Given the description of an element on the screen output the (x, y) to click on. 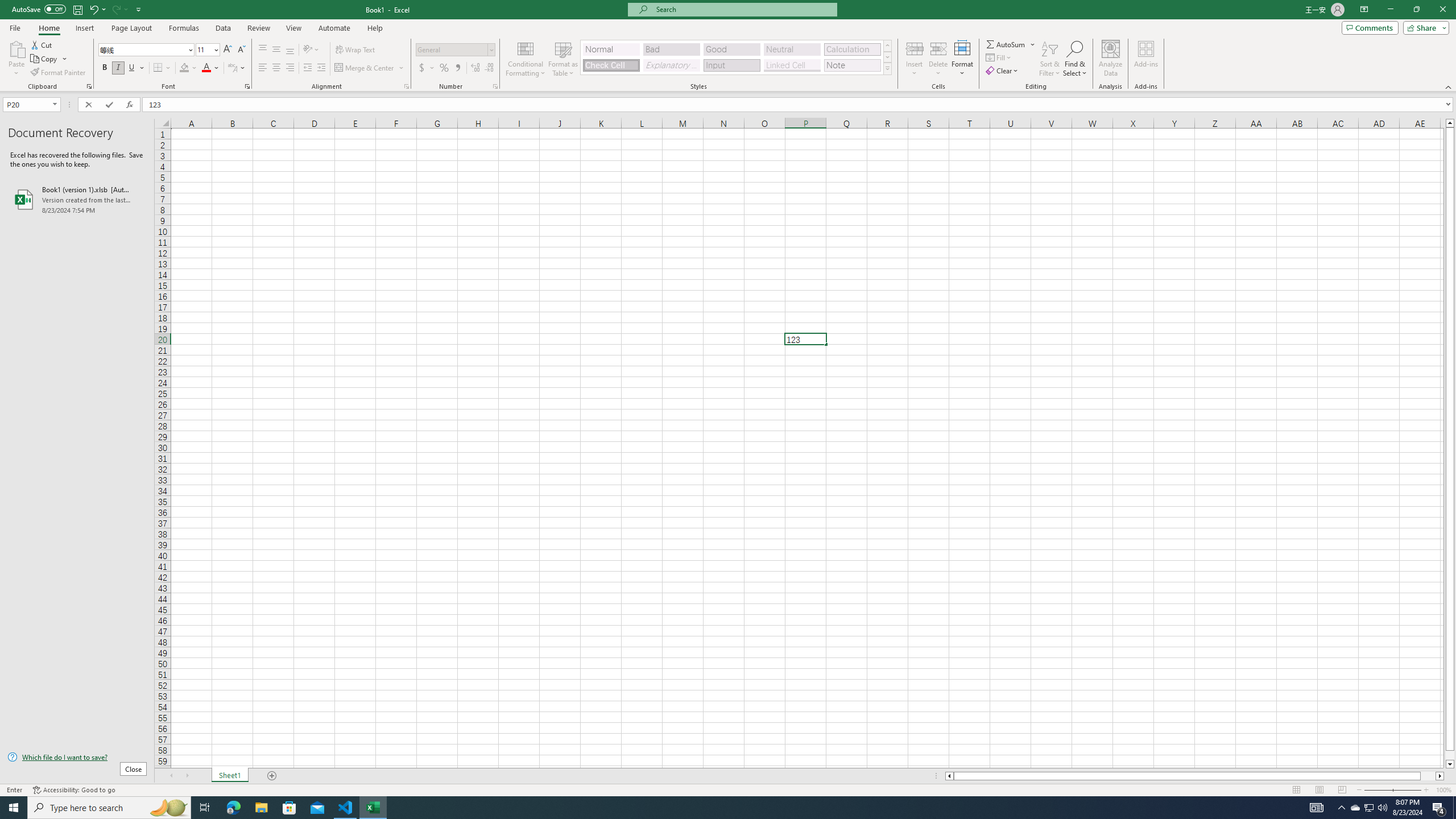
Data (223, 28)
View (293, 28)
Decrease Indent (307, 67)
Format (962, 58)
Input (731, 65)
Number Format (451, 49)
Middle Align (276, 49)
Accounting Number Format (422, 67)
Formulas (184, 28)
Sheet1 (229, 775)
